Given the description of an element on the screen output the (x, y) to click on. 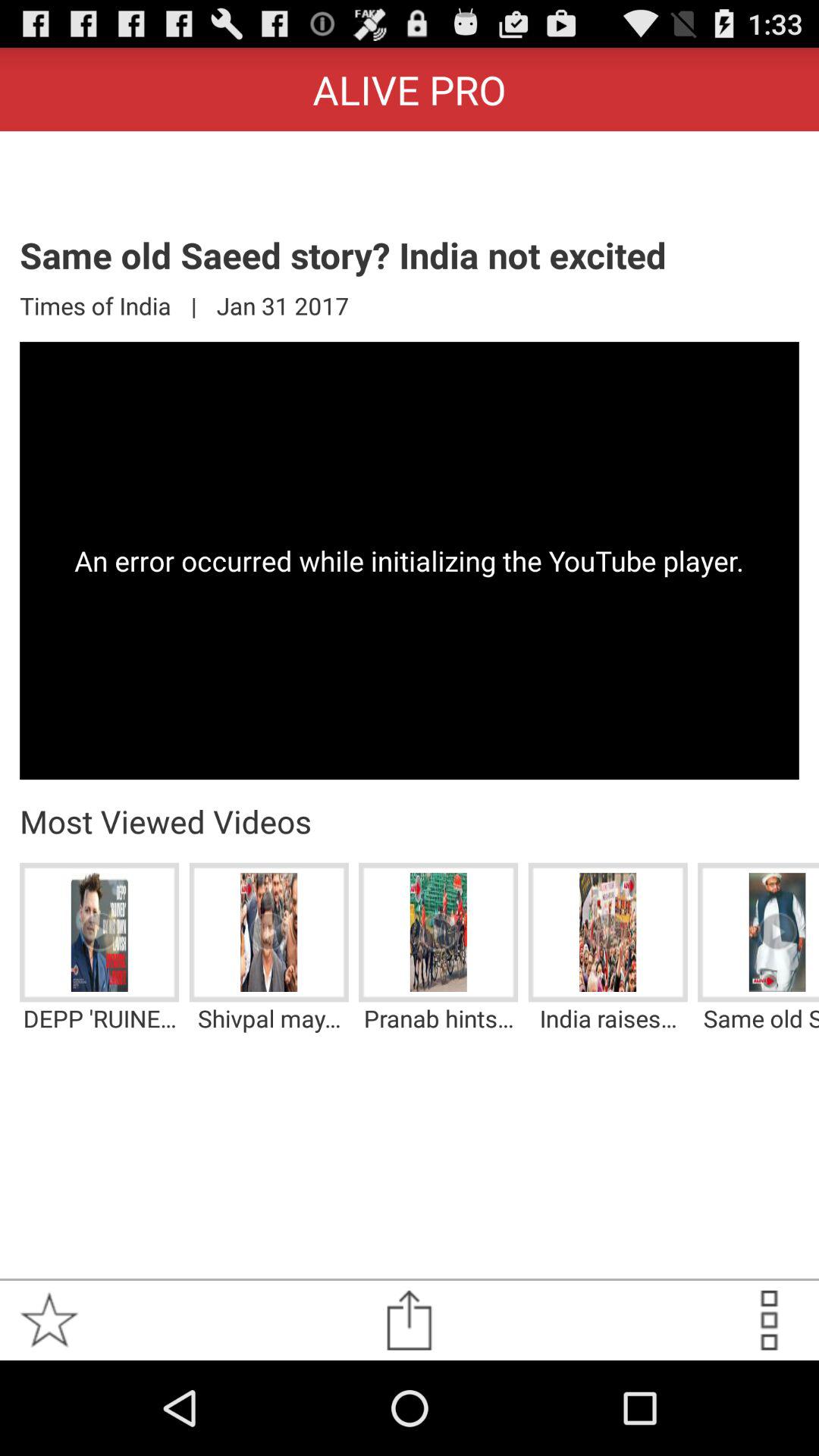
share the page (409, 1320)
